Given the description of an element on the screen output the (x, y) to click on. 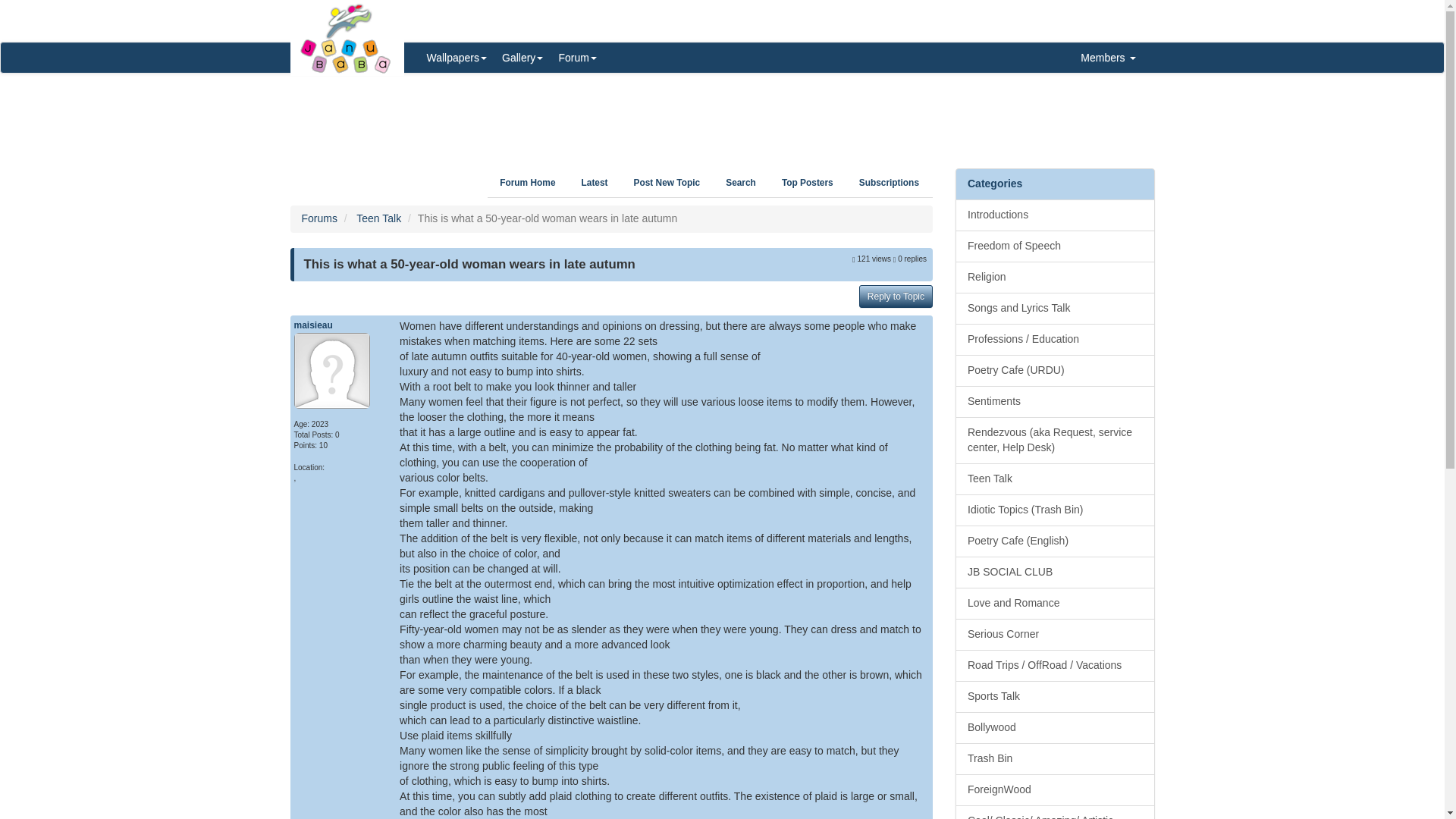
Advertisement (721, 115)
Wallpapers (457, 57)
Gallery (522, 57)
Forum (577, 57)
